Given the description of an element on the screen output the (x, y) to click on. 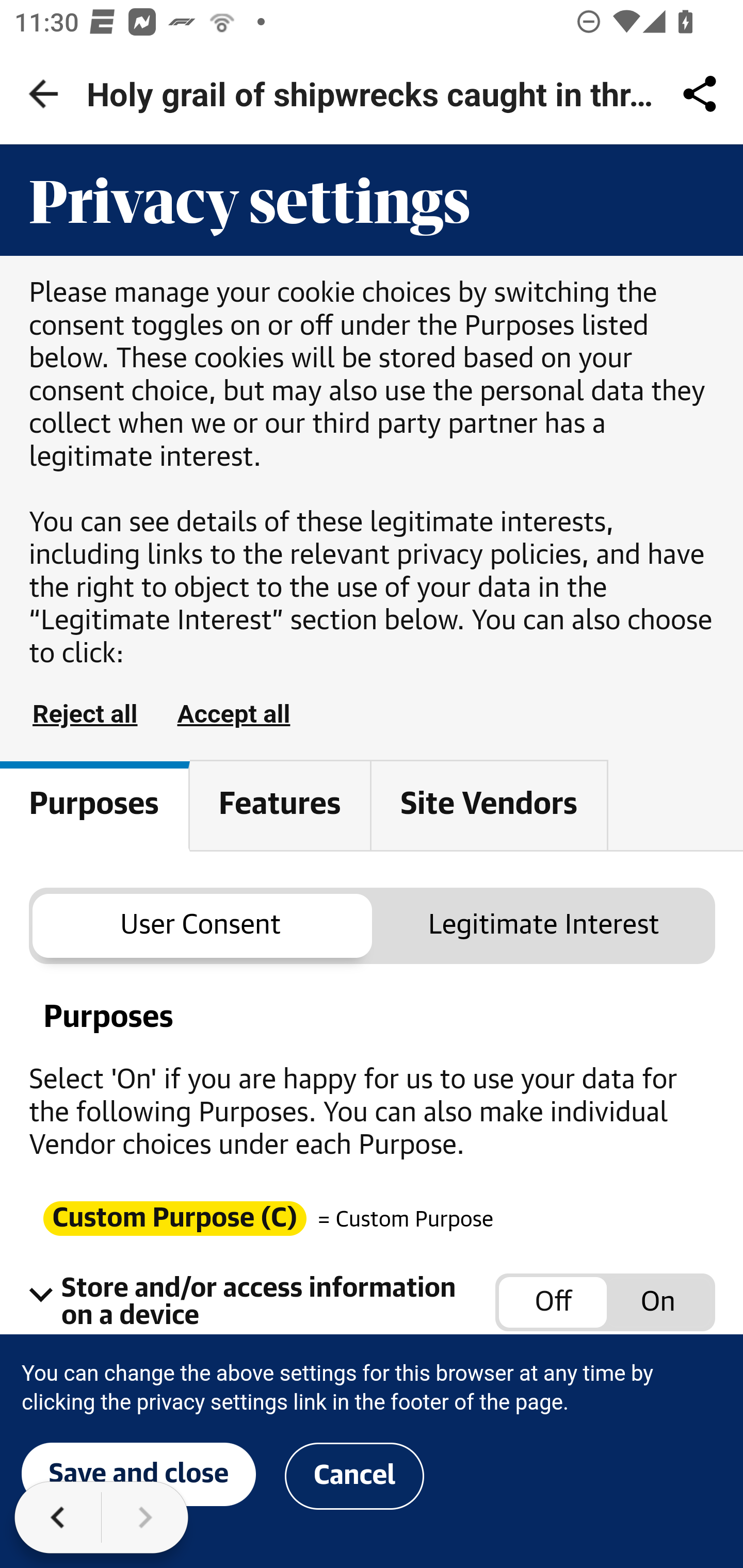
Reject all (85, 713)
Accept all (233, 713)
Features (280, 803)
Site Vendors (489, 803)
Purposes (95, 806)
User Consent (200, 925)
Legitimate Interest (544, 925)
Store and/or access information on a device (262, 1302)
Store and/or access information on a device (605, 1302)
Cancel (354, 1474)
